Given the description of an element on the screen output the (x, y) to click on. 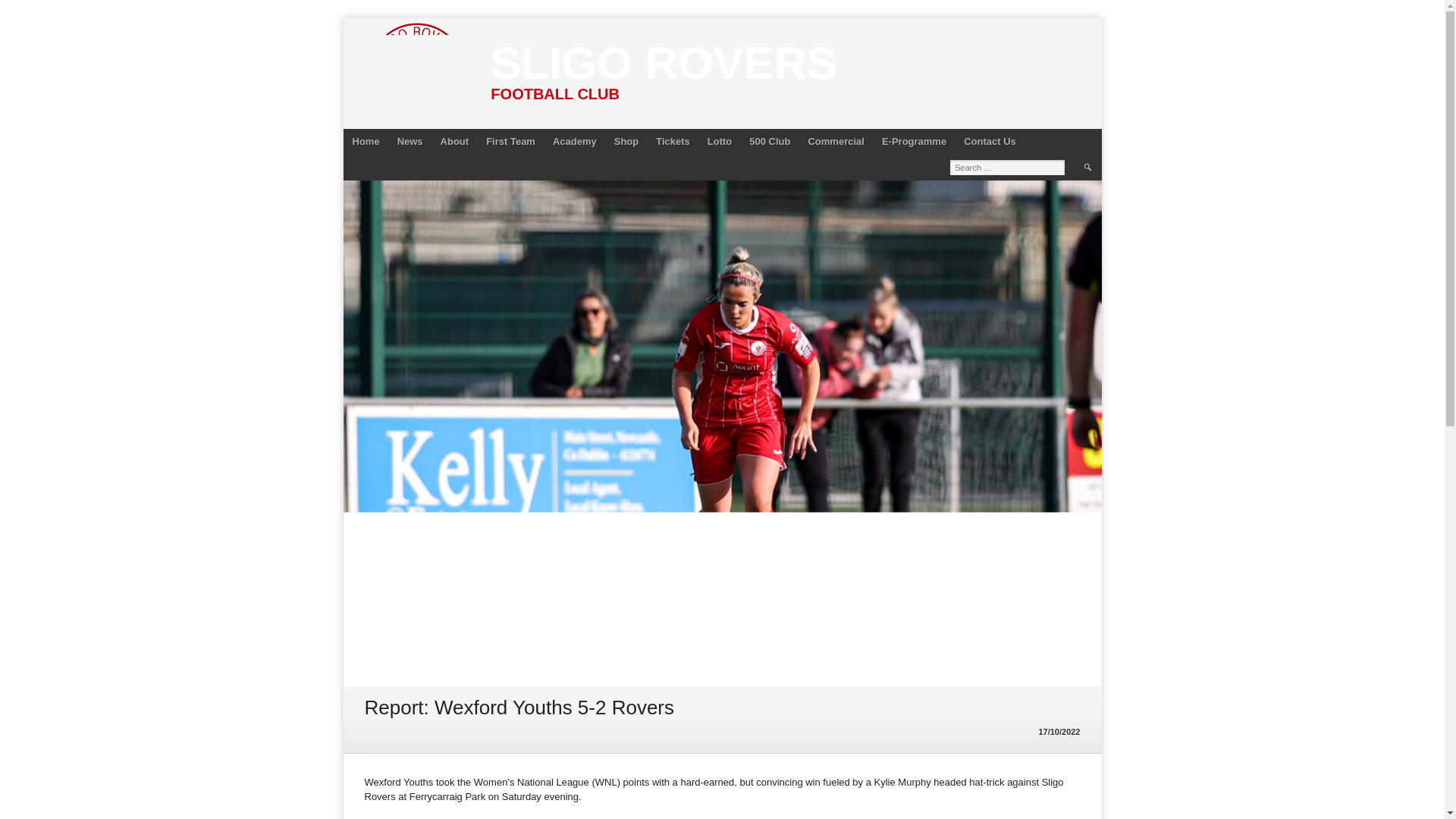
SLIGO ROVERS (663, 62)
News (410, 141)
Search (1088, 167)
About (454, 141)
Home (365, 141)
First Team (510, 141)
Academy (574, 141)
